Given the description of an element on the screen output the (x, y) to click on. 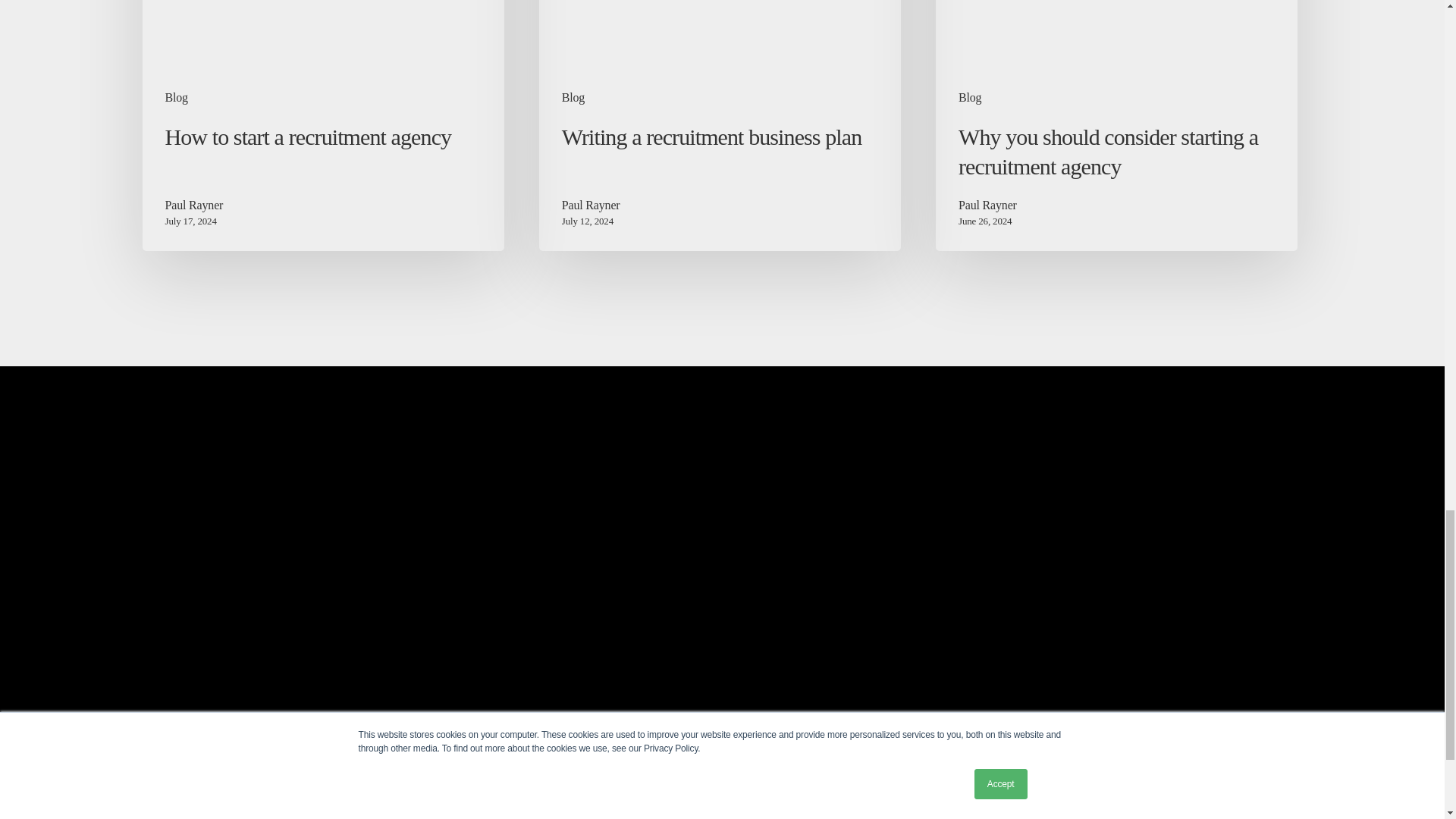
Blog (176, 97)
Blog (969, 97)
Paul Rayner (591, 205)
Paul Rayner (194, 205)
Blog (573, 97)
